Given the description of an element on the screen output the (x, y) to click on. 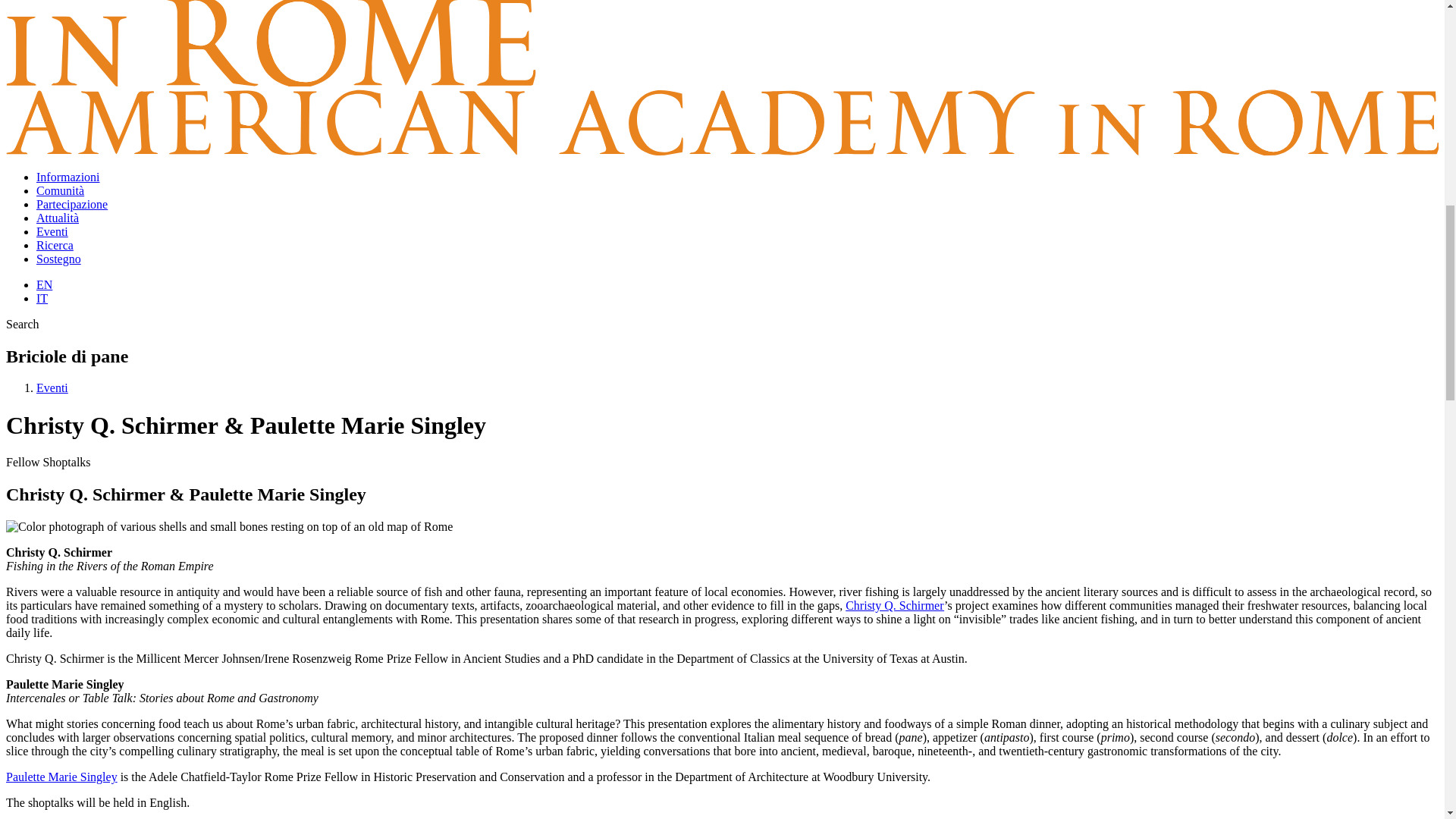
Ricerca (55, 245)
Paulette Marie Singley (61, 776)
Eventi (52, 231)
Eventi (52, 387)
ShoptaLK - Paulette Marie Singley (228, 526)
Christy Q. Schirmer (894, 604)
Informazioni (68, 176)
Christy Q. Schirmer (894, 604)
Partecipazione (71, 204)
Sostegno (58, 258)
Paulette Marie Singley (61, 776)
EN (44, 284)
